Given the description of an element on the screen output the (x, y) to click on. 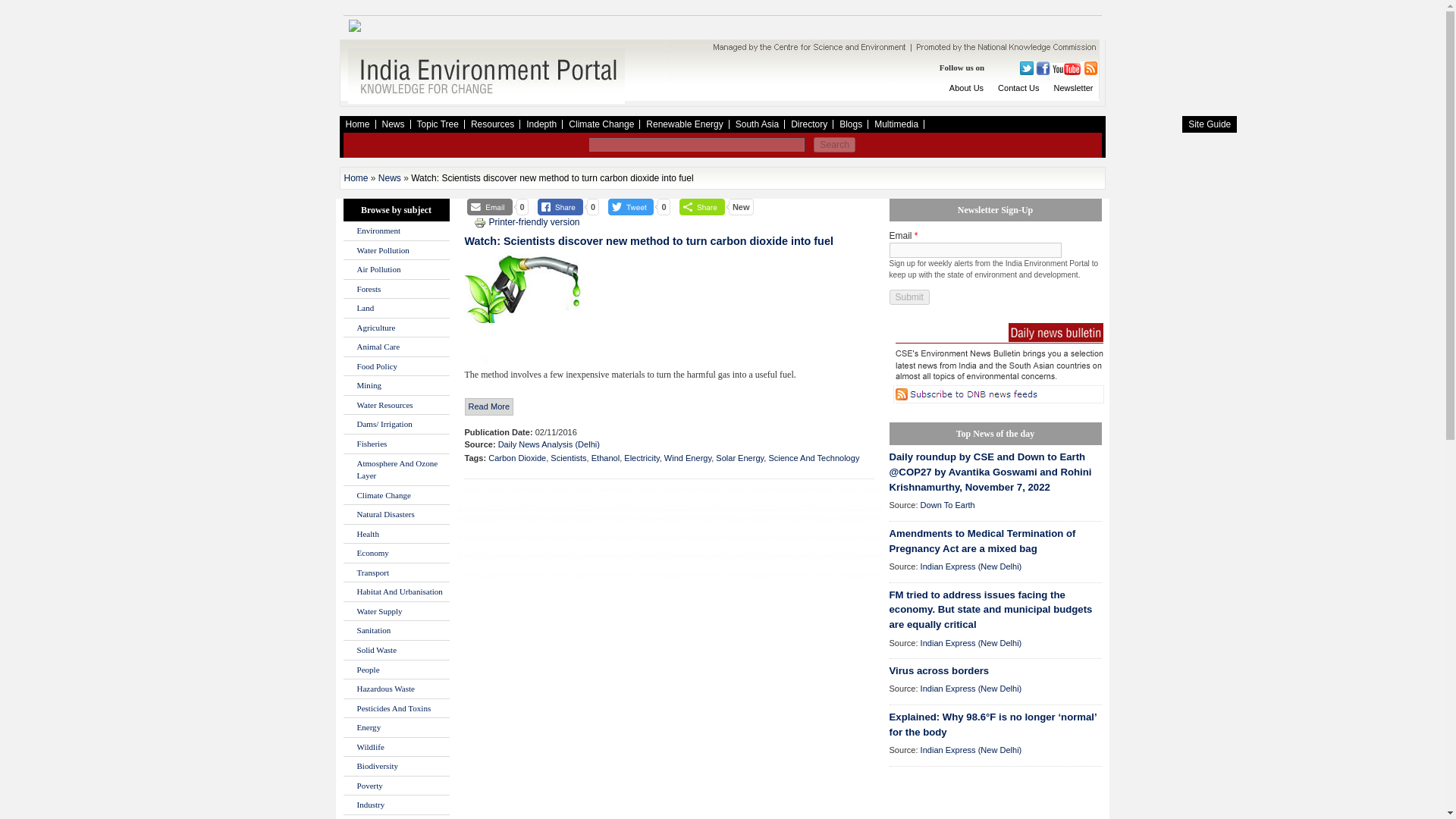
Search (834, 144)
About Us (965, 88)
Home (357, 124)
South Asia (756, 124)
Newsletter (1073, 88)
Renewable Energy (684, 124)
Facebook (1040, 68)
Home page (485, 100)
IEP Newsletter (1073, 88)
Topic Tree (437, 124)
